Given the description of an element on the screen output the (x, y) to click on. 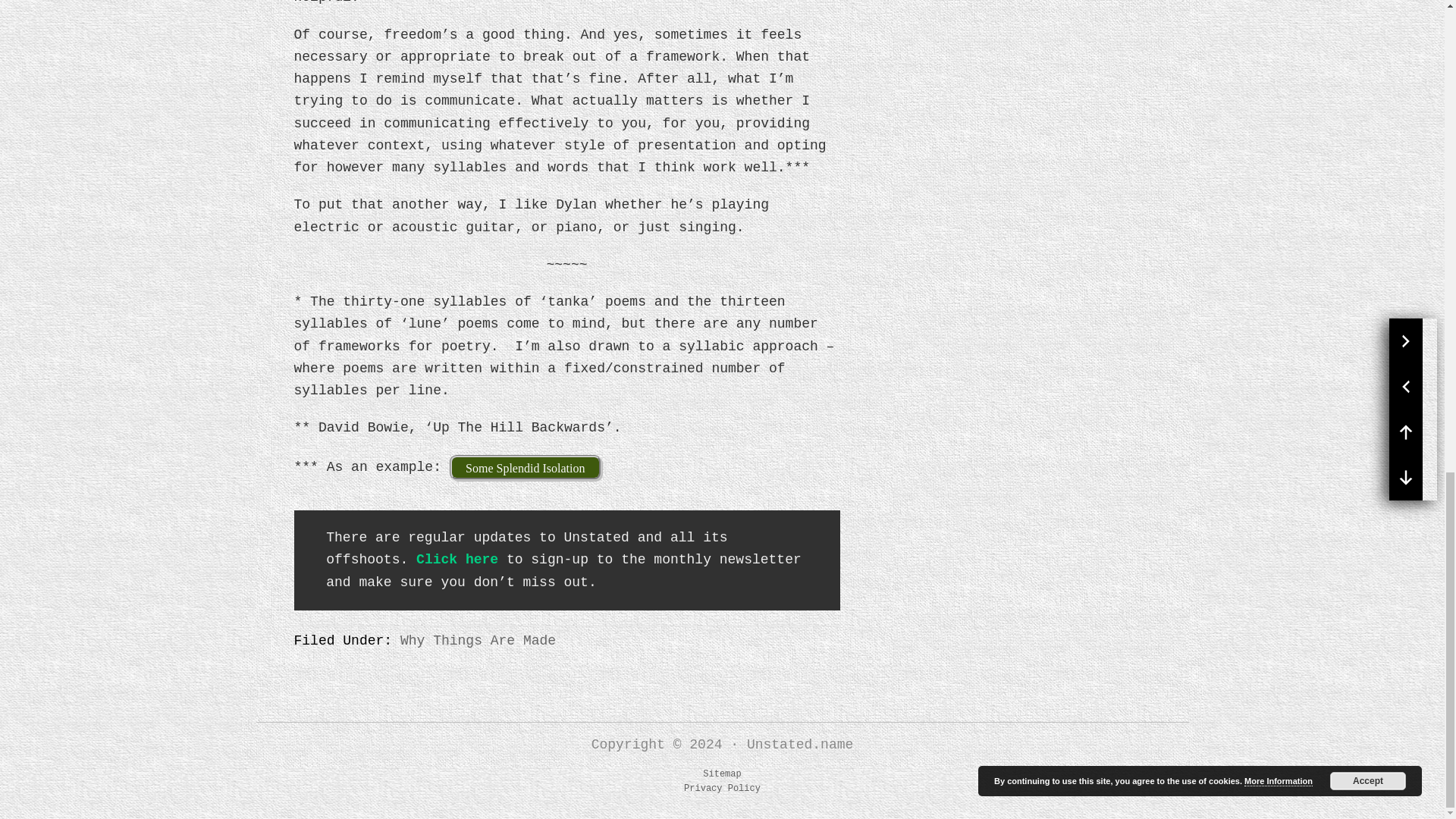
Link to Some Splendid Isolation item (525, 467)
Some Splendid Isolation (525, 467)
Why Things Are Made (478, 640)
Click here (456, 559)
